Given the description of an element on the screen output the (x, y) to click on. 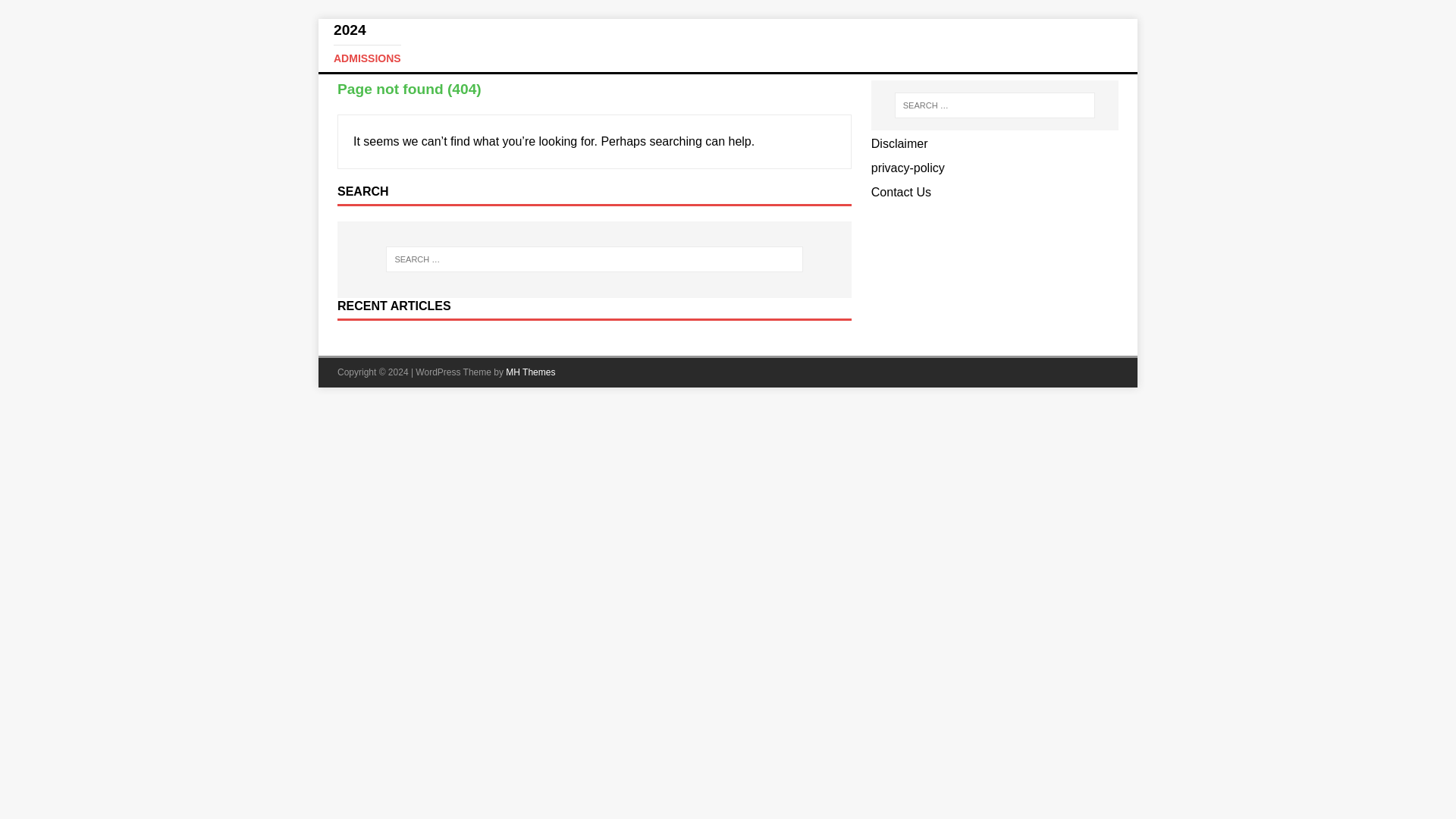
Disclaimer (899, 143)
2024 (727, 43)
Search (56, 11)
Contact Us (900, 192)
privacy-policy (727, 43)
